Given the description of an element on the screen output the (x, y) to click on. 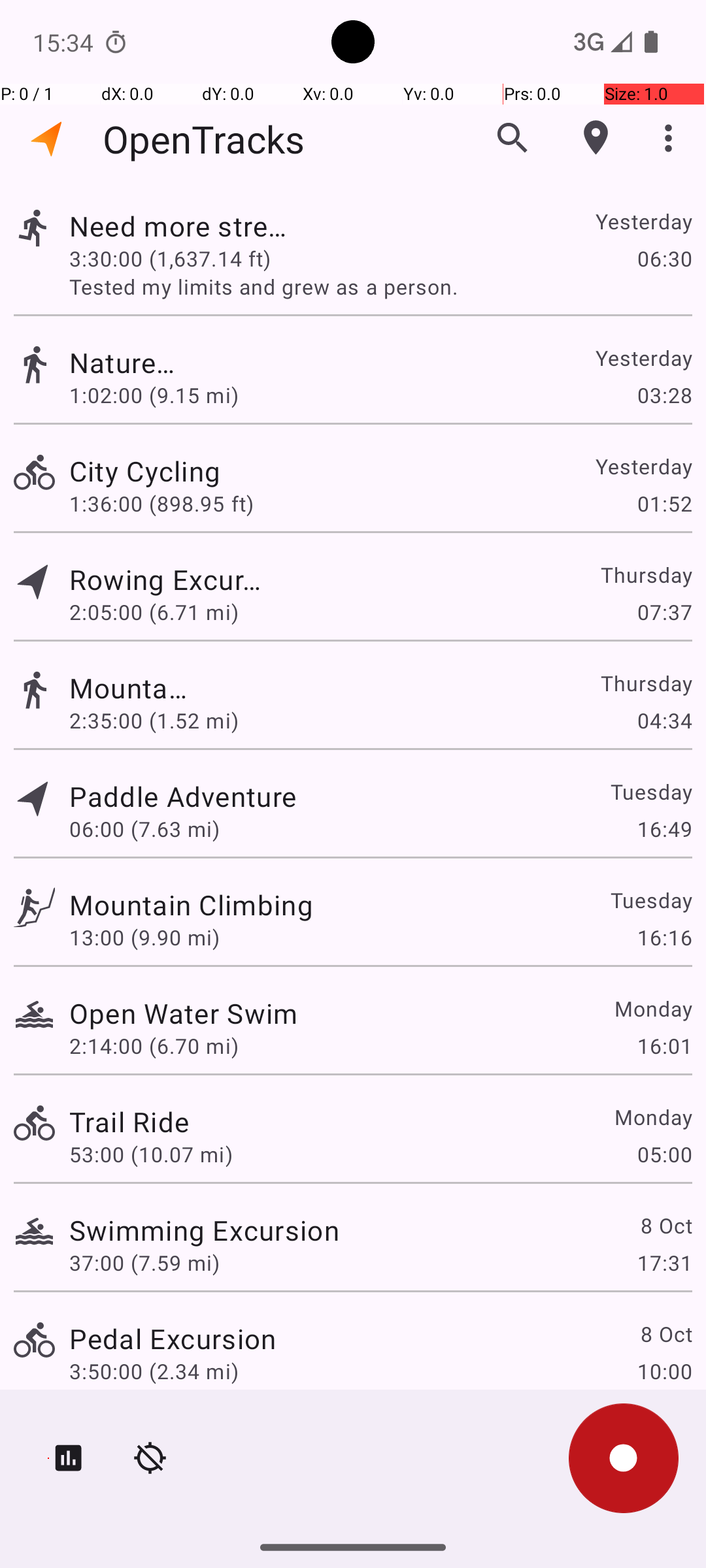
Need more strength and conditioning Element type: android.widget.TextView (183, 225)
3:30:00 (1,637.14 ft) Element type: android.widget.TextView (169, 258)
06:30 Element type: android.widget.TextView (664, 258)
Tested my limits and grew as a person. Element type: android.widget.TextView (380, 286)
Nature Walk Element type: android.widget.TextView (128, 361)
1:02:00 (9.15 mi) Element type: android.widget.TextView (153, 394)
03:28 Element type: android.widget.TextView (664, 394)
City Cycling Element type: android.widget.TextView (203, 470)
1:36:00 (898.95 ft) Element type: android.widget.TextView (161, 503)
01:52 Element type: android.widget.TextView (664, 503)
Rowing Excursion Element type: android.widget.TextView (172, 578)
2:05:00 (6.71 mi) Element type: android.widget.TextView (153, 611)
07:37 Element type: android.widget.TextView (664, 611)
Mountain Hike Element type: android.widget.TextView (129, 687)
2:35:00 (1.52 mi) Element type: android.widget.TextView (153, 720)
04:34 Element type: android.widget.TextView (664, 720)
Paddle Adventure Element type: android.widget.TextView (182, 795)
06:00 (7.63 mi) Element type: android.widget.TextView (144, 828)
16:49 Element type: android.widget.TextView (664, 828)
Mountain Climbing Element type: android.widget.TextView (190, 904)
13:00 (9.90 mi) Element type: android.widget.TextView (144, 937)
16:16 Element type: android.widget.TextView (664, 937)
Open Water Swim Element type: android.widget.TextView (183, 1012)
2:14:00 (6.70 mi) Element type: android.widget.TextView (153, 1045)
16:01 Element type: android.widget.TextView (664, 1045)
Trail Ride Element type: android.widget.TextView (128, 1121)
53:00 (10.07 mi) Element type: android.widget.TextView (150, 1154)
05:00 Element type: android.widget.TextView (664, 1154)
Swimming Excursion Element type: android.widget.TextView (203, 1229)
37:00 (7.59 mi) Element type: android.widget.TextView (144, 1262)
17:31 Element type: android.widget.TextView (664, 1262)
Pedal Excursion Element type: android.widget.TextView (172, 1337)
3:50:00 (2.34 mi) Element type: android.widget.TextView (153, 1370)
